Given the description of an element on the screen output the (x, y) to click on. 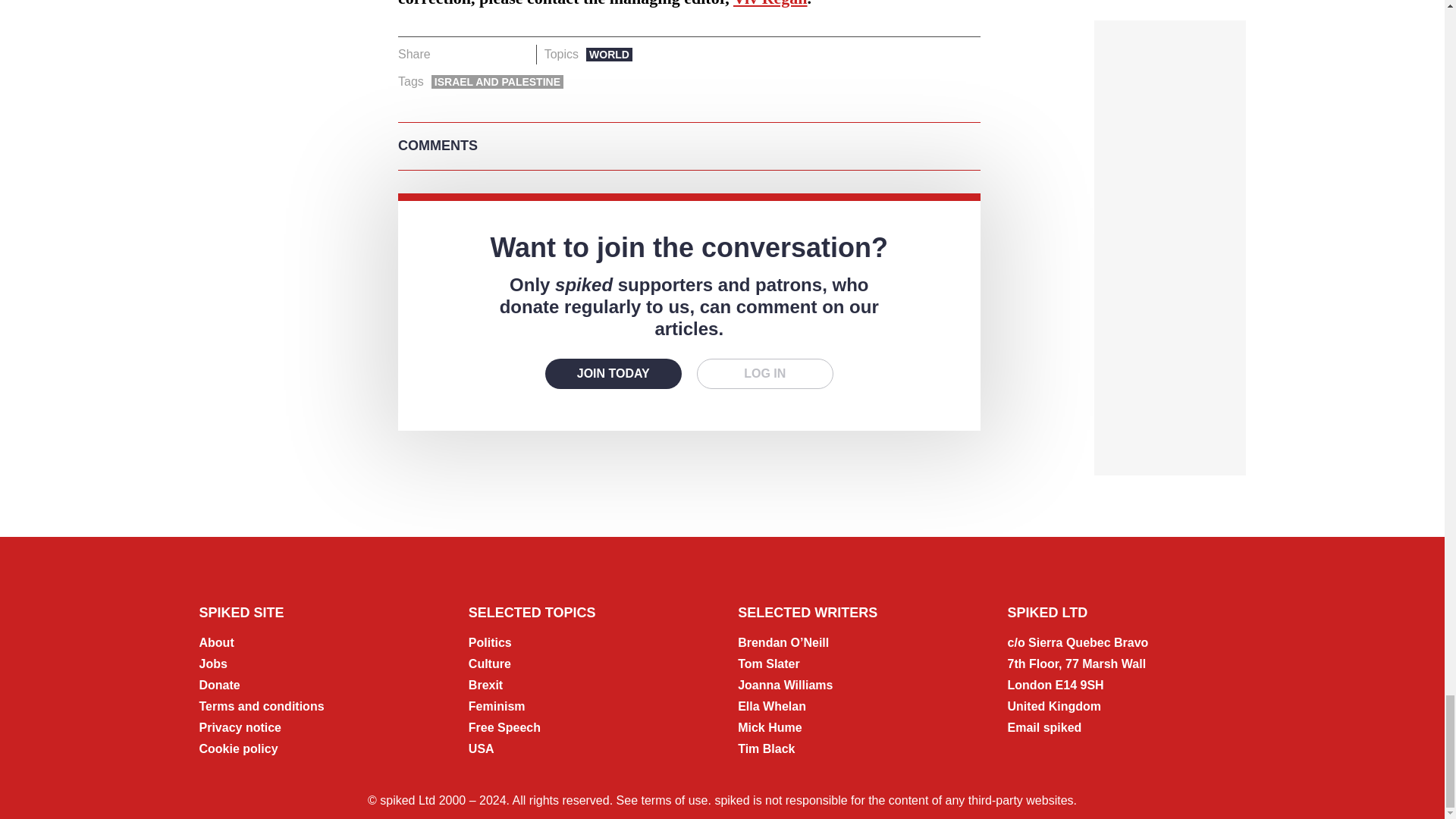
Share on Facebook (448, 54)
Share on Whatsapp (494, 54)
Share on Email (518, 54)
Share on Twitter (471, 54)
